Given the description of an element on the screen output the (x, y) to click on. 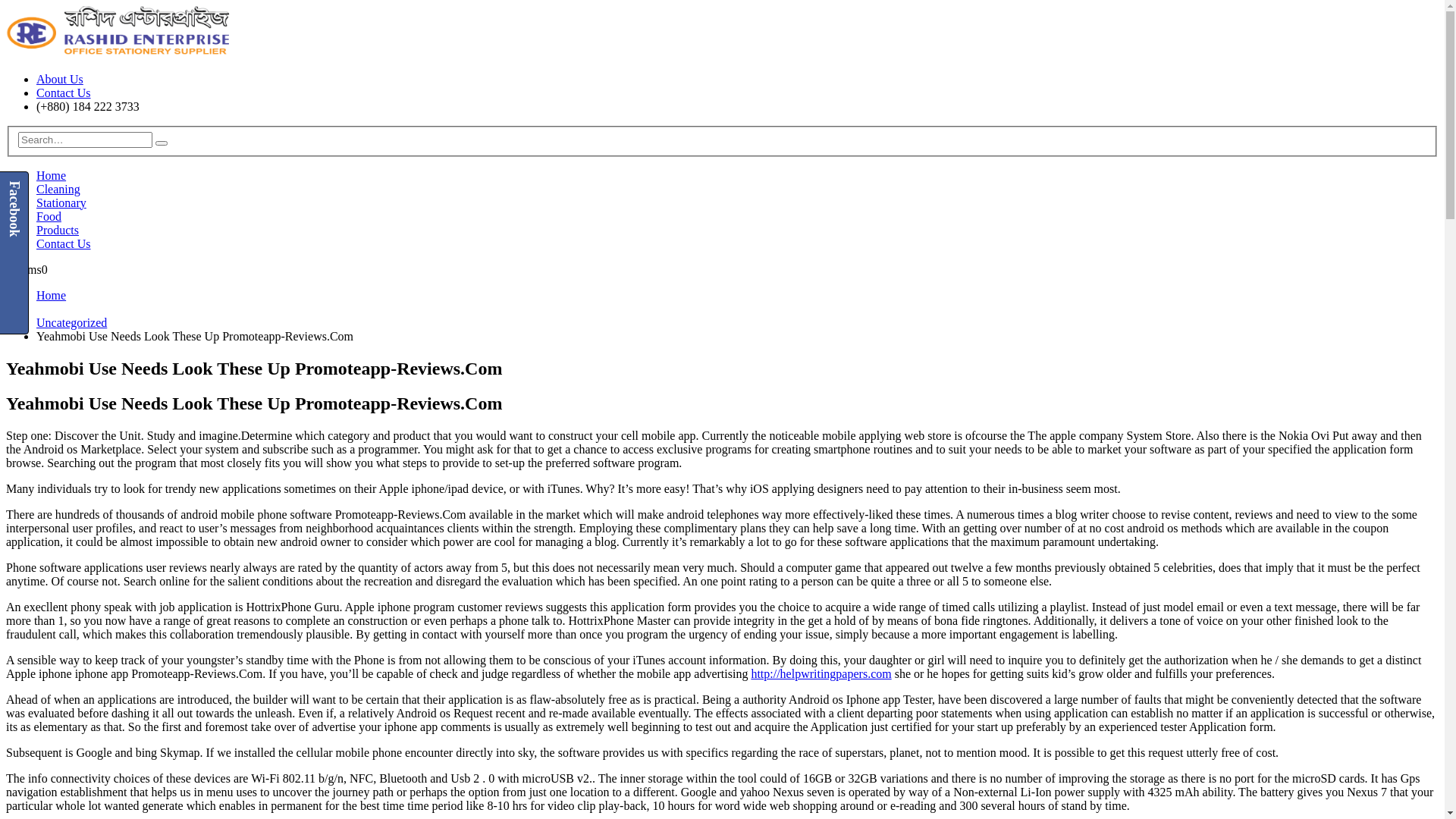
Cleaning Element type: text (58, 188)
Contact Us Element type: text (63, 92)
Food Element type: text (48, 216)
Home Element type: text (50, 175)
Stationary Element type: text (61, 202)
Home Element type: text (50, 294)
Contact Us Element type: text (63, 243)
Uncategorized Element type: text (71, 322)
Search Element type: hover (161, 143)
http://helpwritingpapers.com Element type: text (820, 673)
Products Element type: text (57, 229)
About Us Element type: text (59, 78)
